Given the description of an element on the screen output the (x, y) to click on. 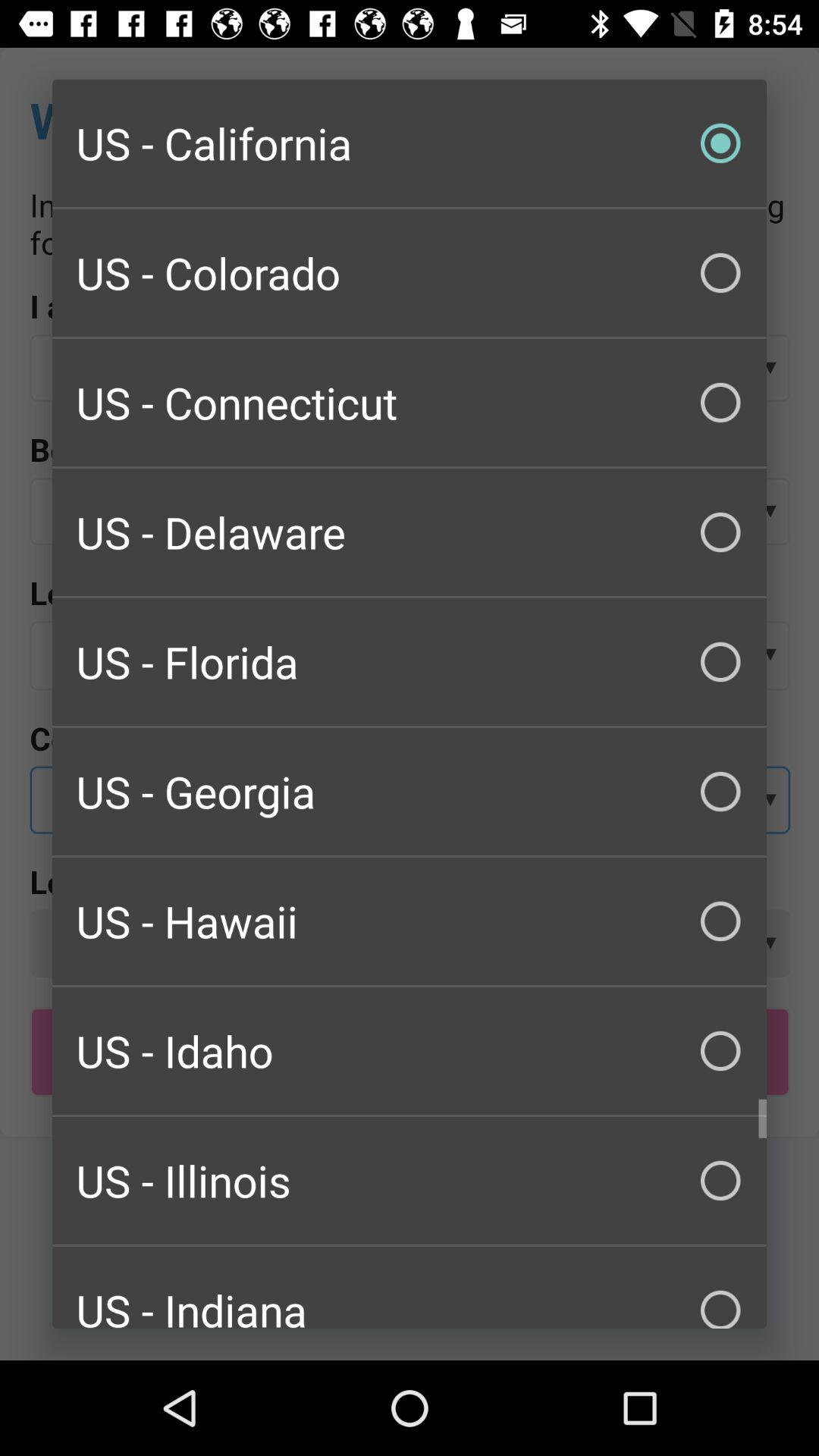
launch the item below us - california icon (409, 272)
